Given the description of an element on the screen output the (x, y) to click on. 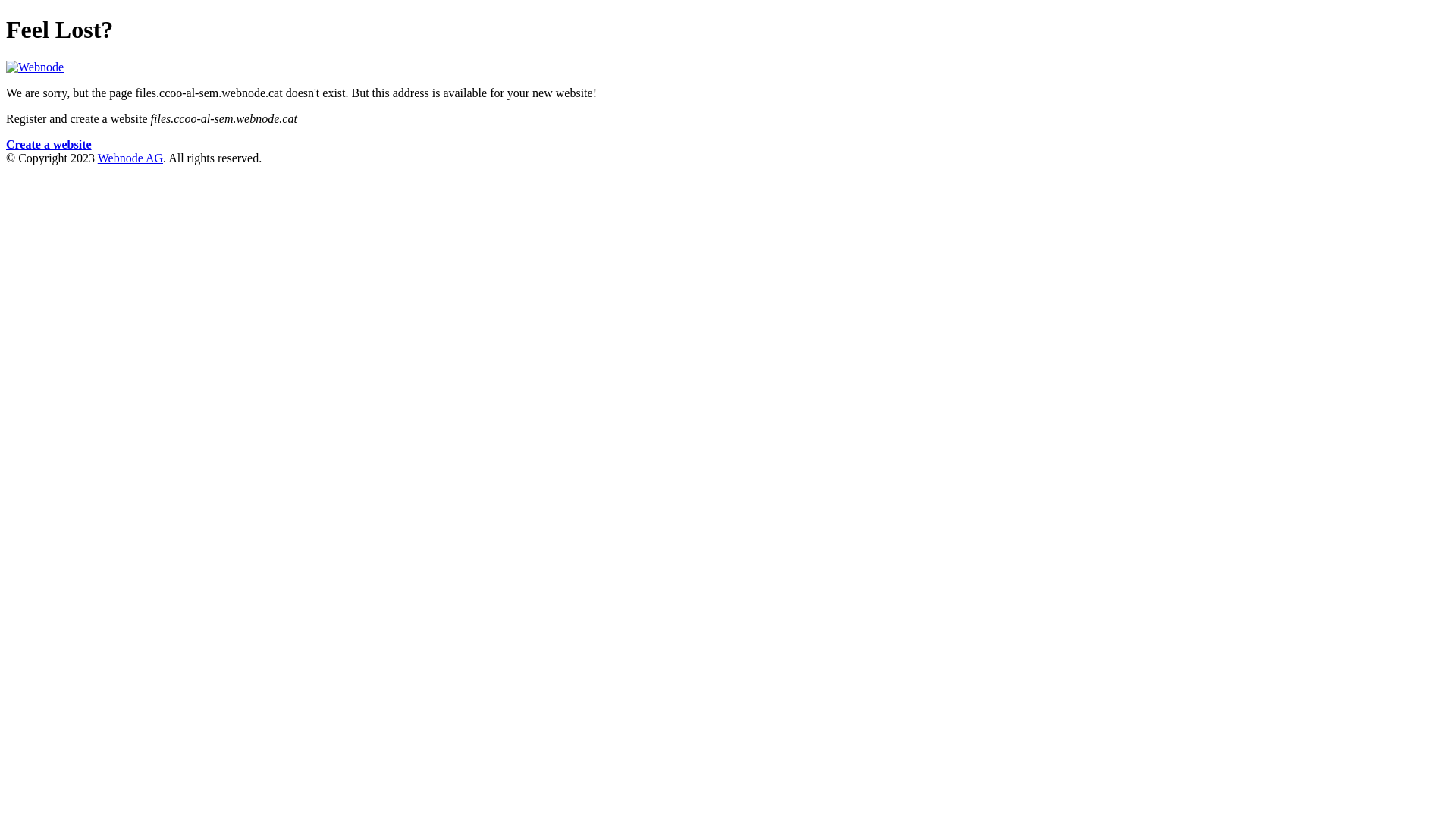
Create a website Element type: text (48, 144)
Webnode AG Element type: text (130, 157)
